Given the description of an element on the screen output the (x, y) to click on. 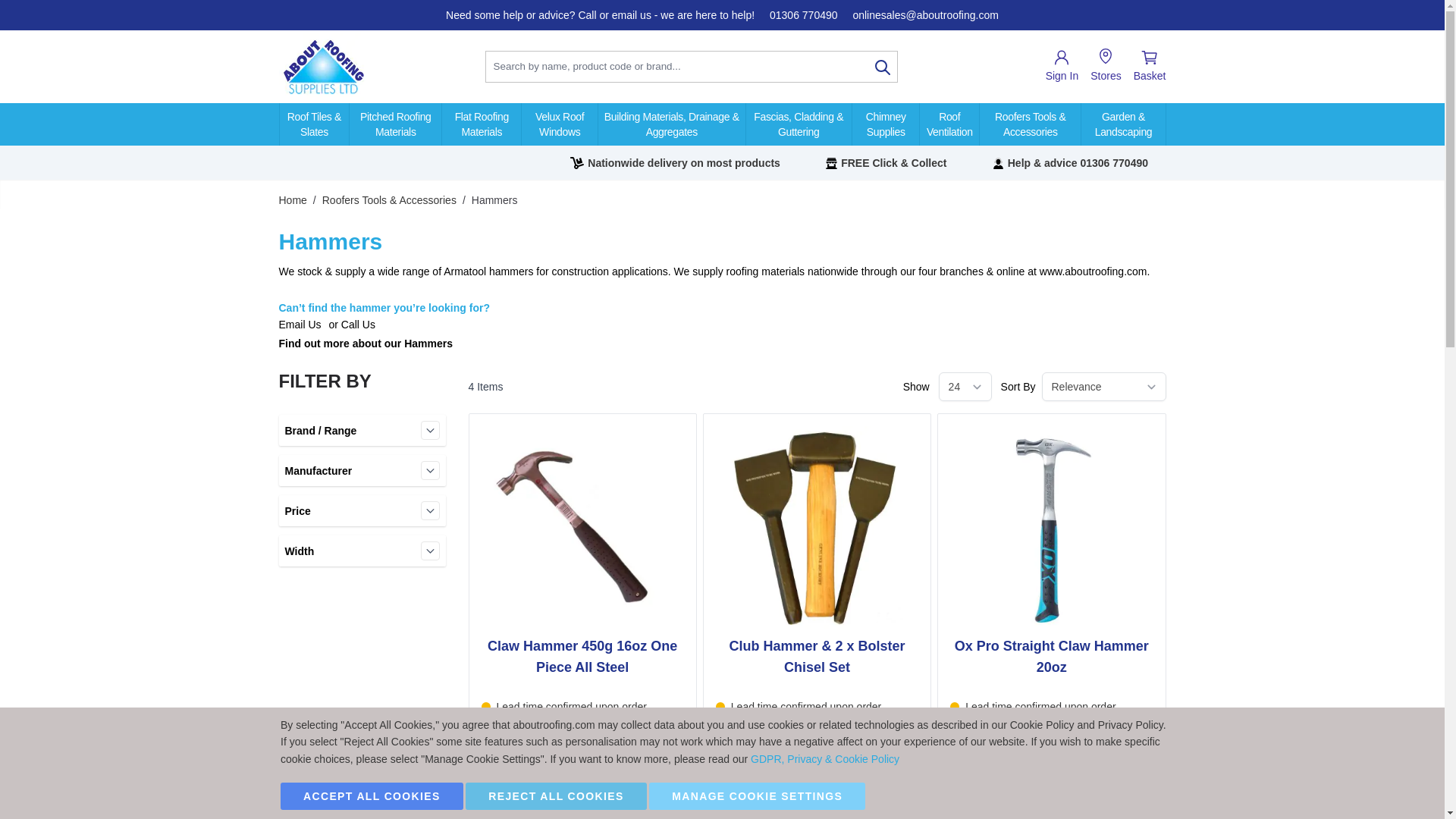
About Roofing Supplies (323, 66)
01306 770490 (804, 15)
Basket (1150, 66)
Search (882, 67)
Sign In (1061, 66)
